Given the description of an element on the screen output the (x, y) to click on. 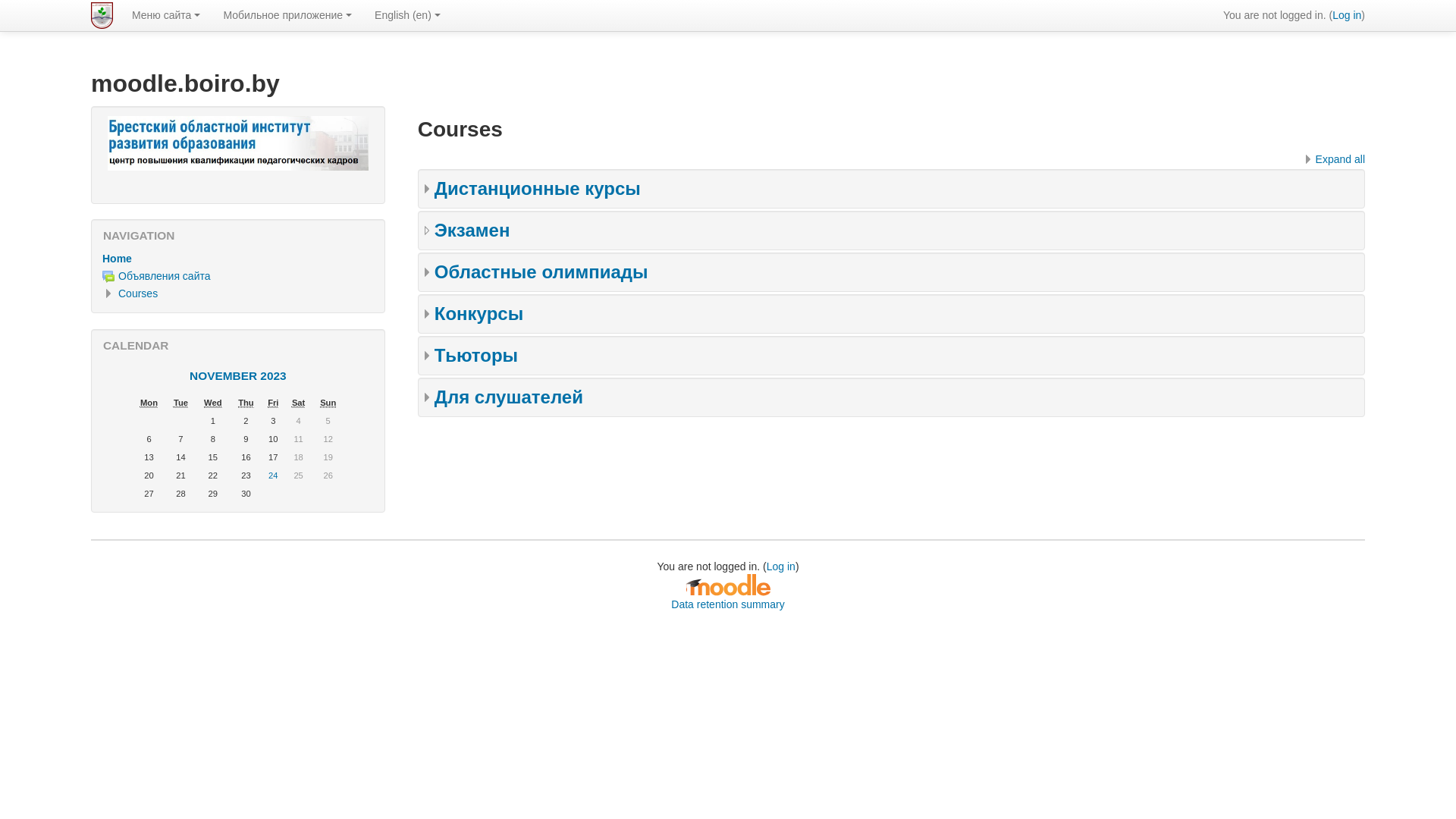
Log in Element type: text (780, 566)
Forum Element type: hover (108, 276)
Data retention summary Element type: text (727, 604)
Home Element type: text (116, 258)
Moodle Element type: hover (727, 584)
NOVEMBER 2023 Element type: text (237, 375)
24 Element type: text (273, 475)
English (en) Element type: text (407, 15)
Courses Element type: text (137, 293)
Expand all Element type: text (1332, 159)
Log in Element type: text (1346, 15)
